Given the description of an element on the screen output the (x, y) to click on. 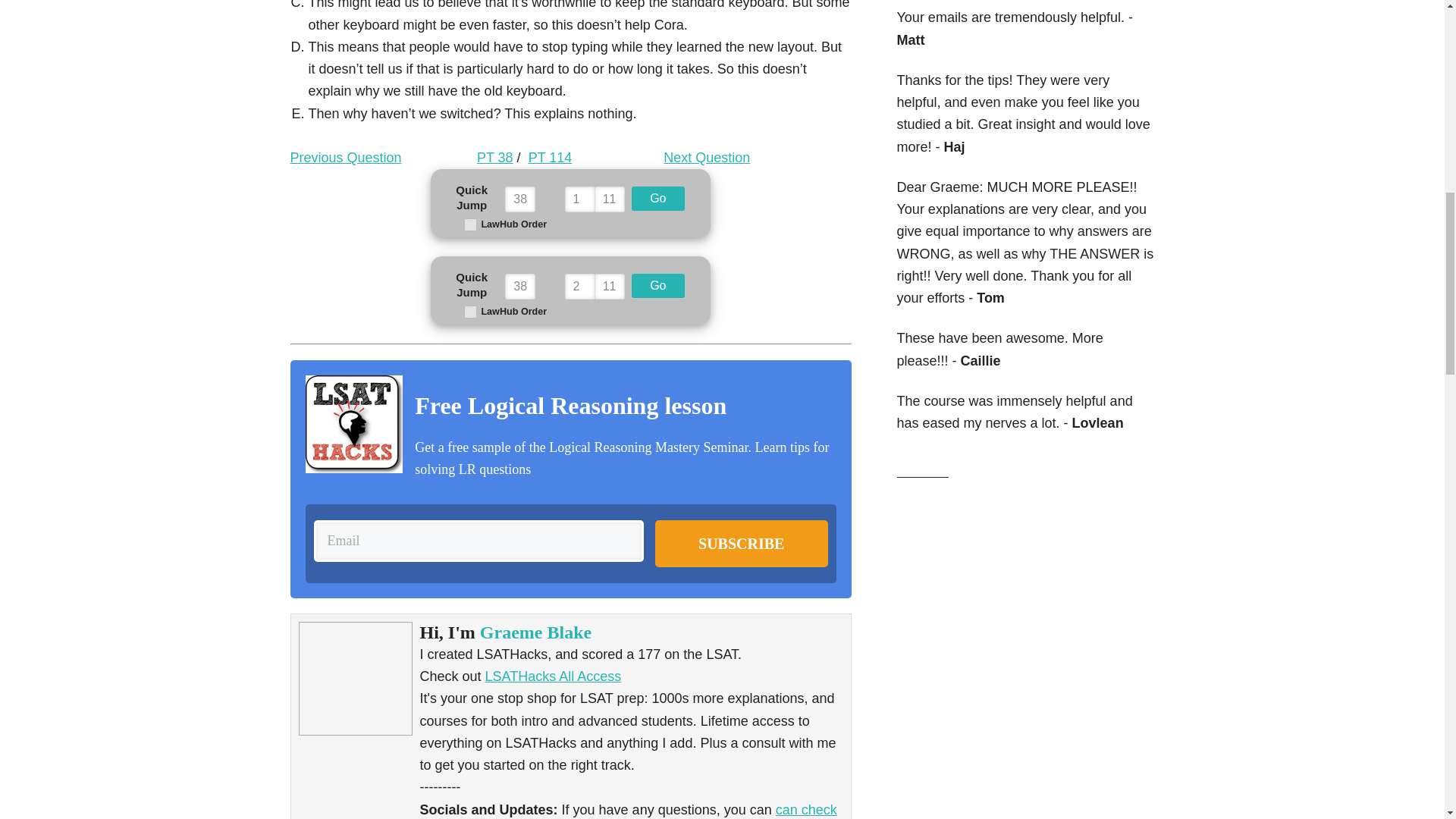
Graeme Blake (535, 632)
Go (657, 198)
Go (657, 285)
Go (657, 285)
PT 114 (550, 157)
LSATHacks All Access (552, 676)
Go (657, 198)
1 (579, 199)
38 (520, 286)
SUBSCRIBE (741, 543)
